Given the description of an element on the screen output the (x, y) to click on. 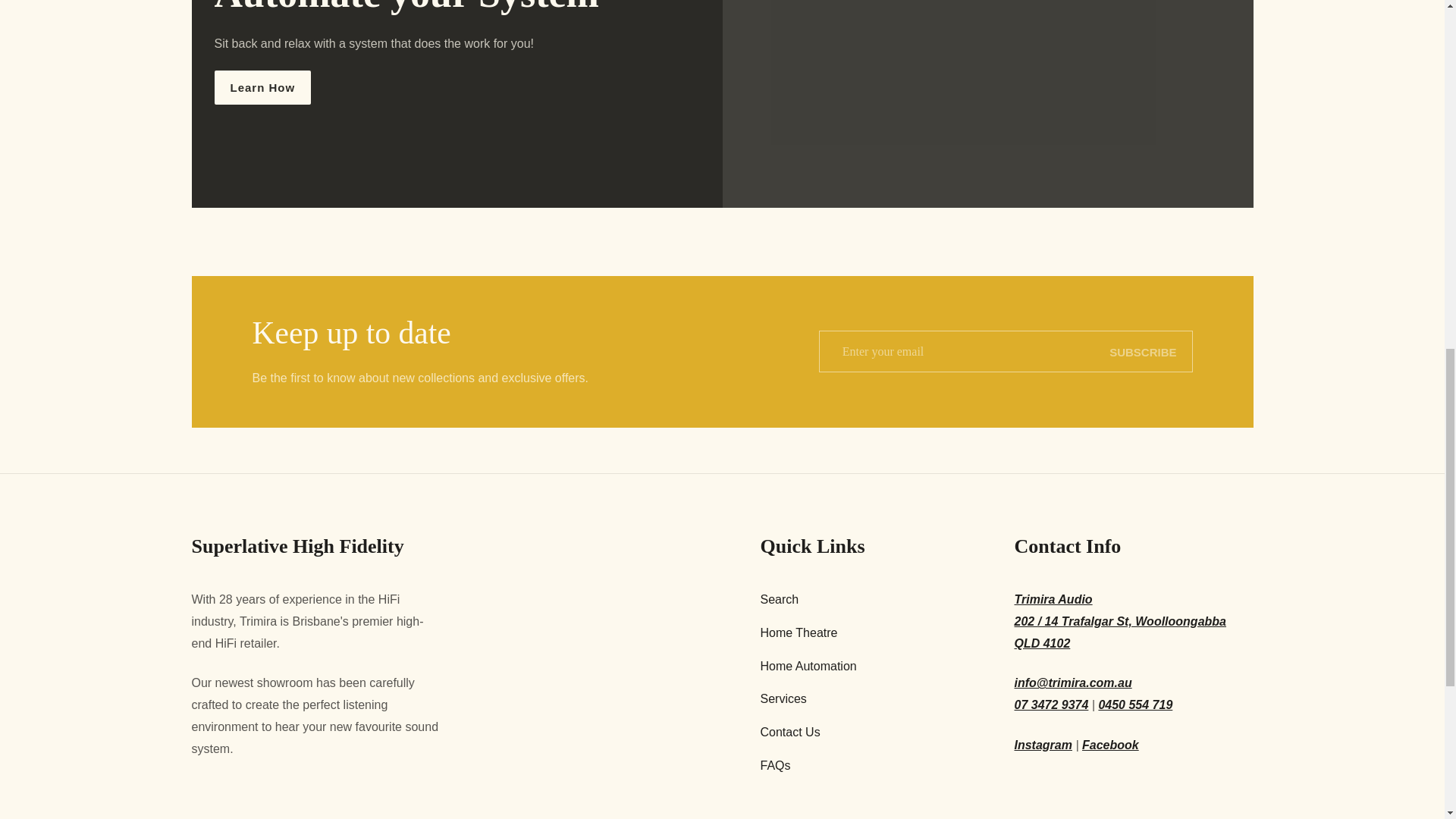
tel: 073-472-9374 (1051, 705)
tel: 045-055-4719 (1134, 705)
Link to Trimira Audio Brisbane on Google Maps (1133, 621)
